Given the description of an element on the screen output the (x, y) to click on. 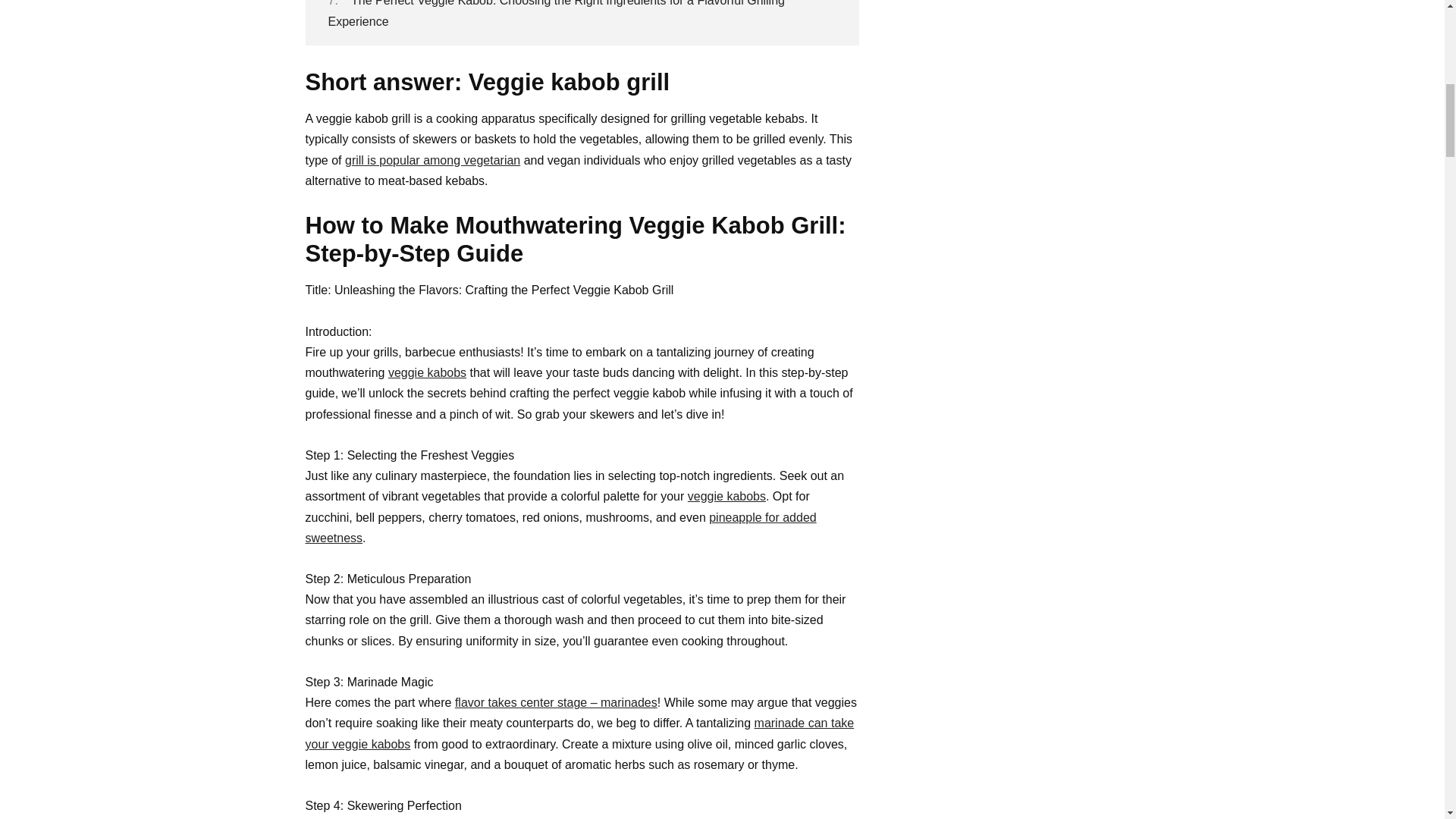
grill is popular among vegetarian (432, 160)
pineapple for added sweetness (559, 527)
veggie kabobs (426, 372)
veggie kabobs (726, 495)
marinade can take your veggie kabobs (578, 733)
